Given the description of an element on the screen output the (x, y) to click on. 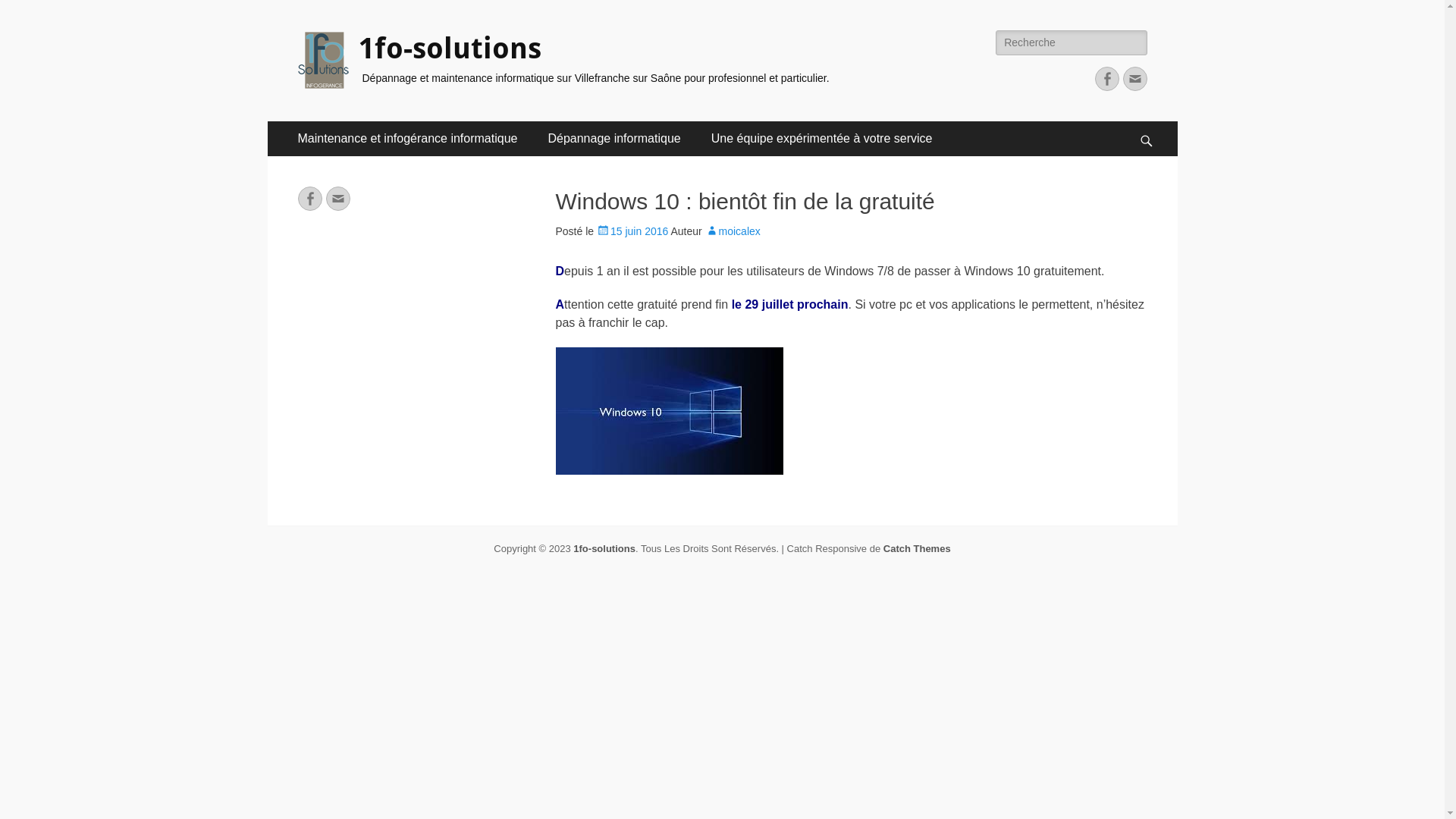
moicalex Element type: text (732, 231)
15 juin 2016 Element type: text (632, 231)
Facebook Element type: text (309, 198)
Facebook Element type: text (1107, 78)
Adresse de contact Element type: text (1134, 78)
Rechercher Element type: text (33, 9)
1fo-solutions Element type: text (448, 48)
Catch Themes Element type: text (916, 548)
1fo-solutions Element type: text (604, 548)
Recherche Element type: text (1154, 121)
Adresse de contact Element type: text (338, 198)
